Given the description of an element on the screen output the (x, y) to click on. 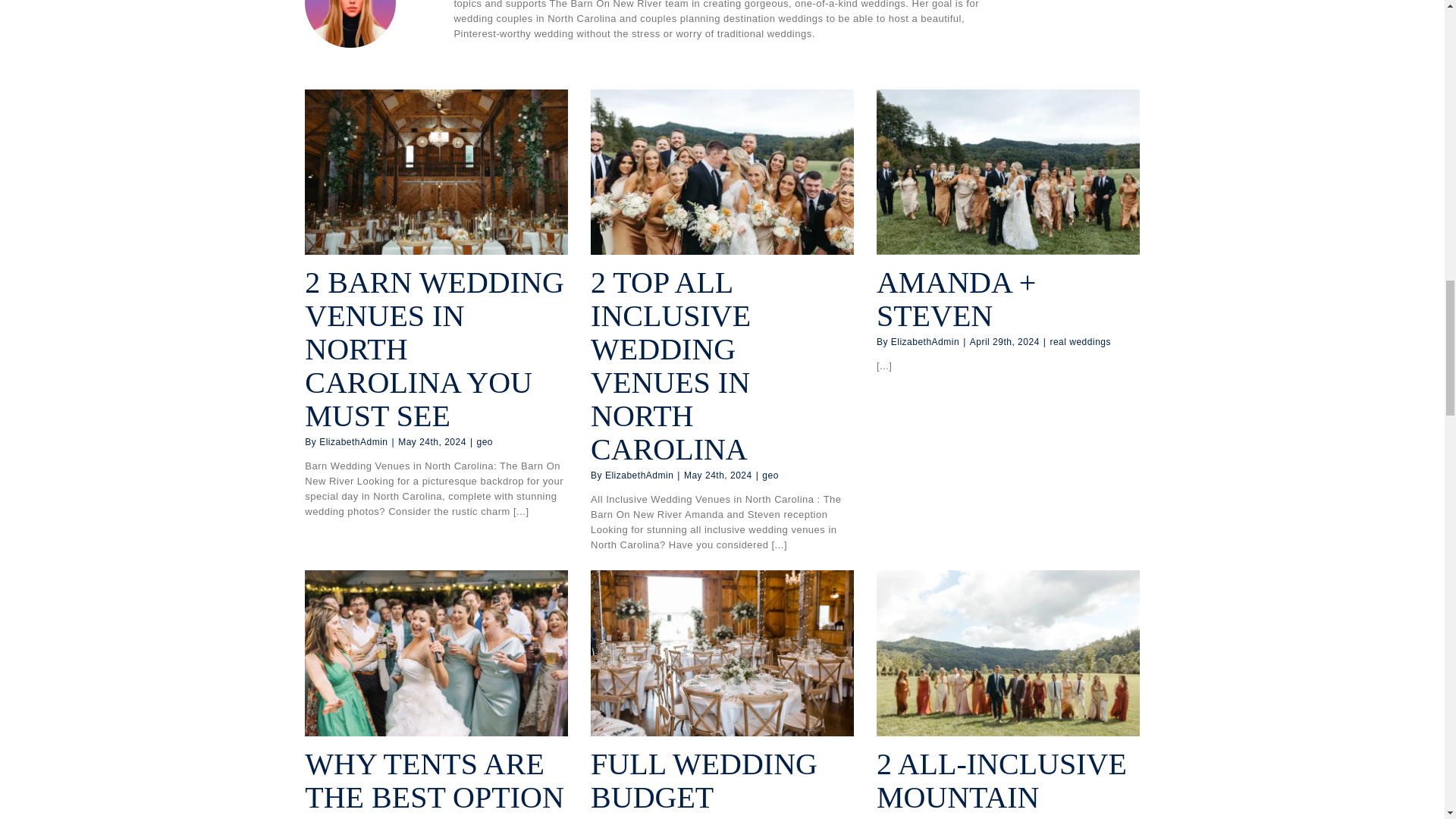
Posts by ElizabethAdmin (925, 341)
Posts by ElizabethAdmin (638, 475)
Posts by ElizabethAdmin (352, 441)
